Given the description of an element on the screen output the (x, y) to click on. 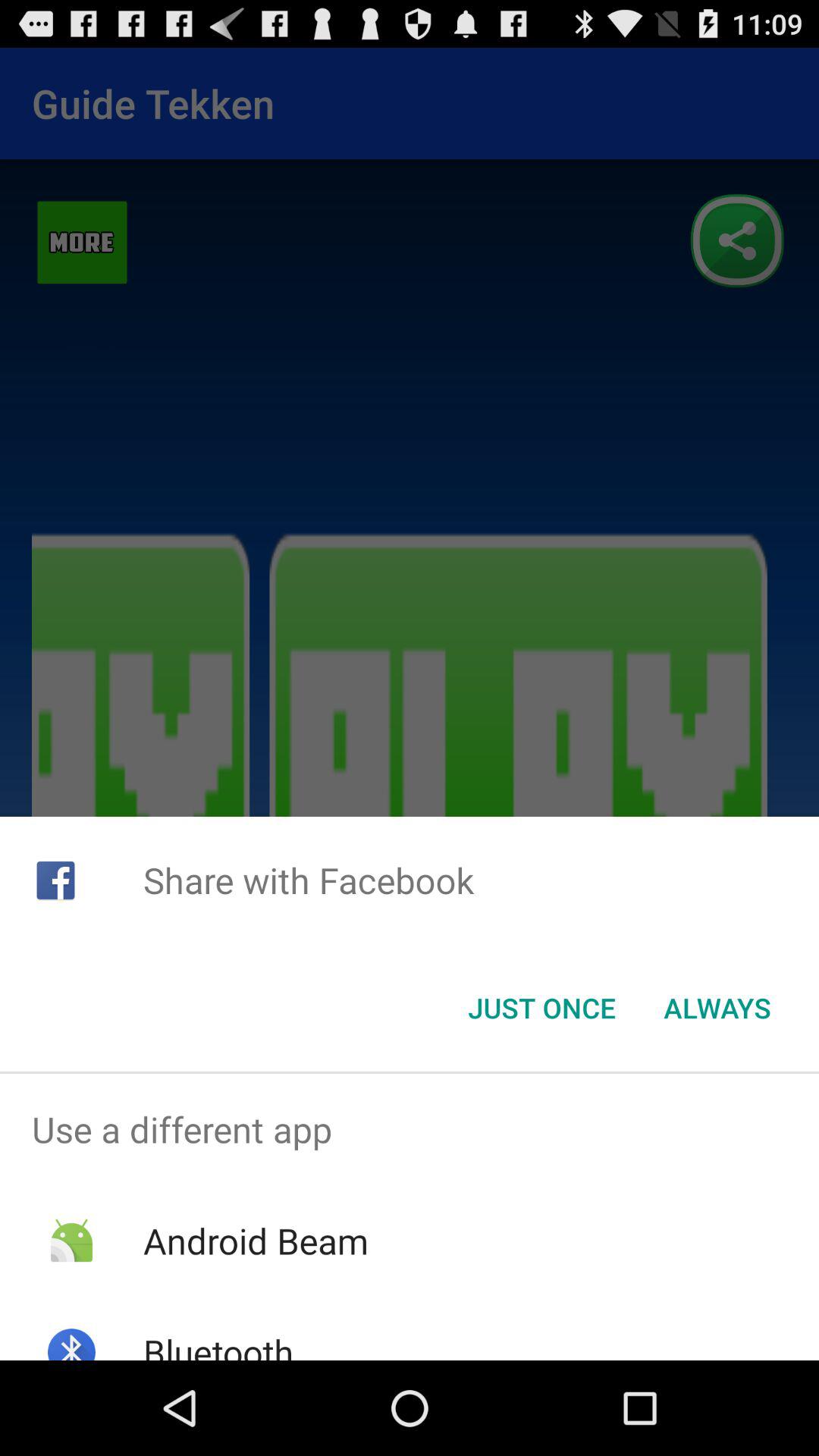
launch item at the bottom right corner (717, 1007)
